Given the description of an element on the screen output the (x, y) to click on. 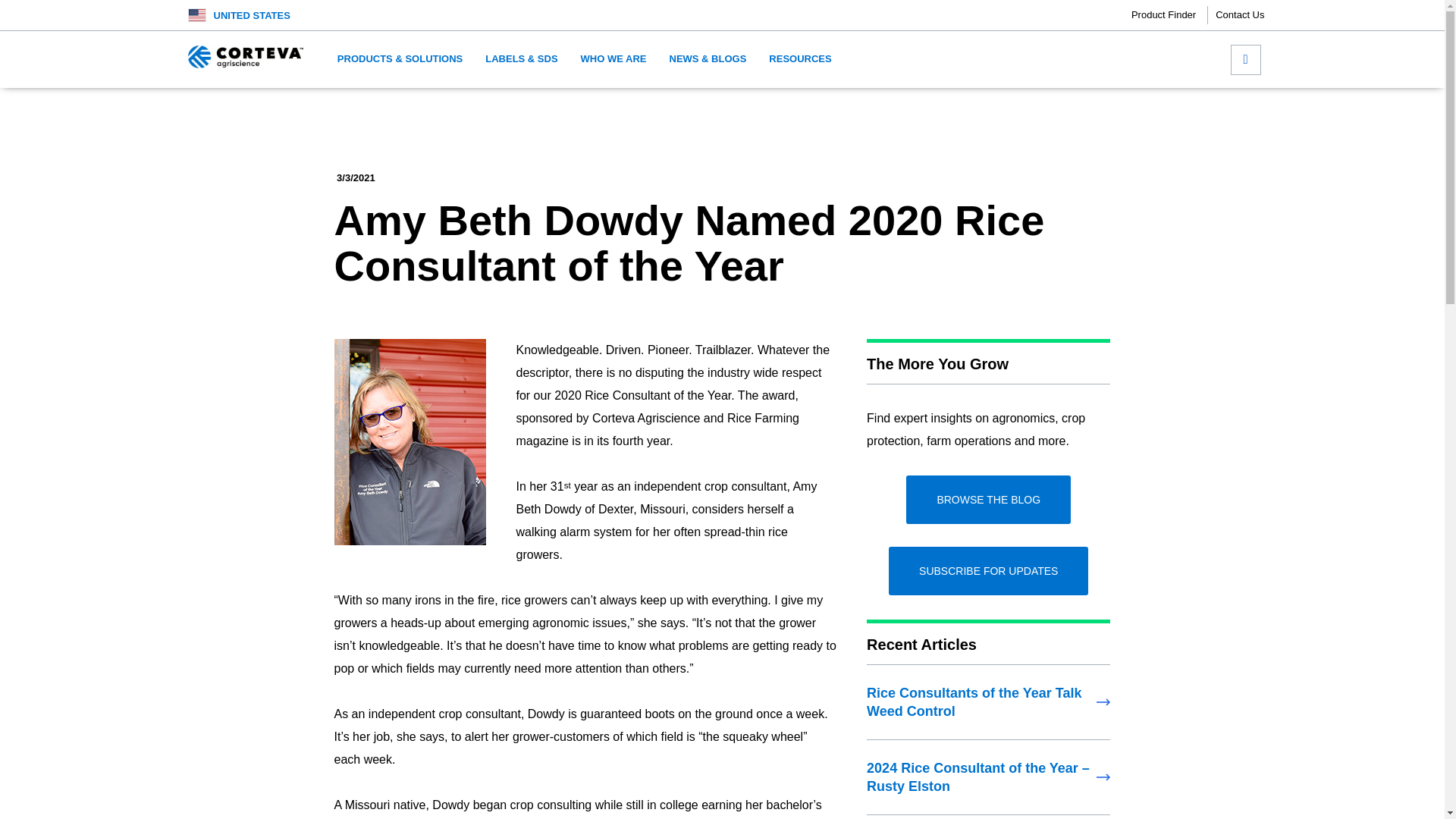
Product Finder (1169, 14)
Contact Us (1239, 14)
UNITED STATES (251, 15)
